Given the description of an element on the screen output the (x, y) to click on. 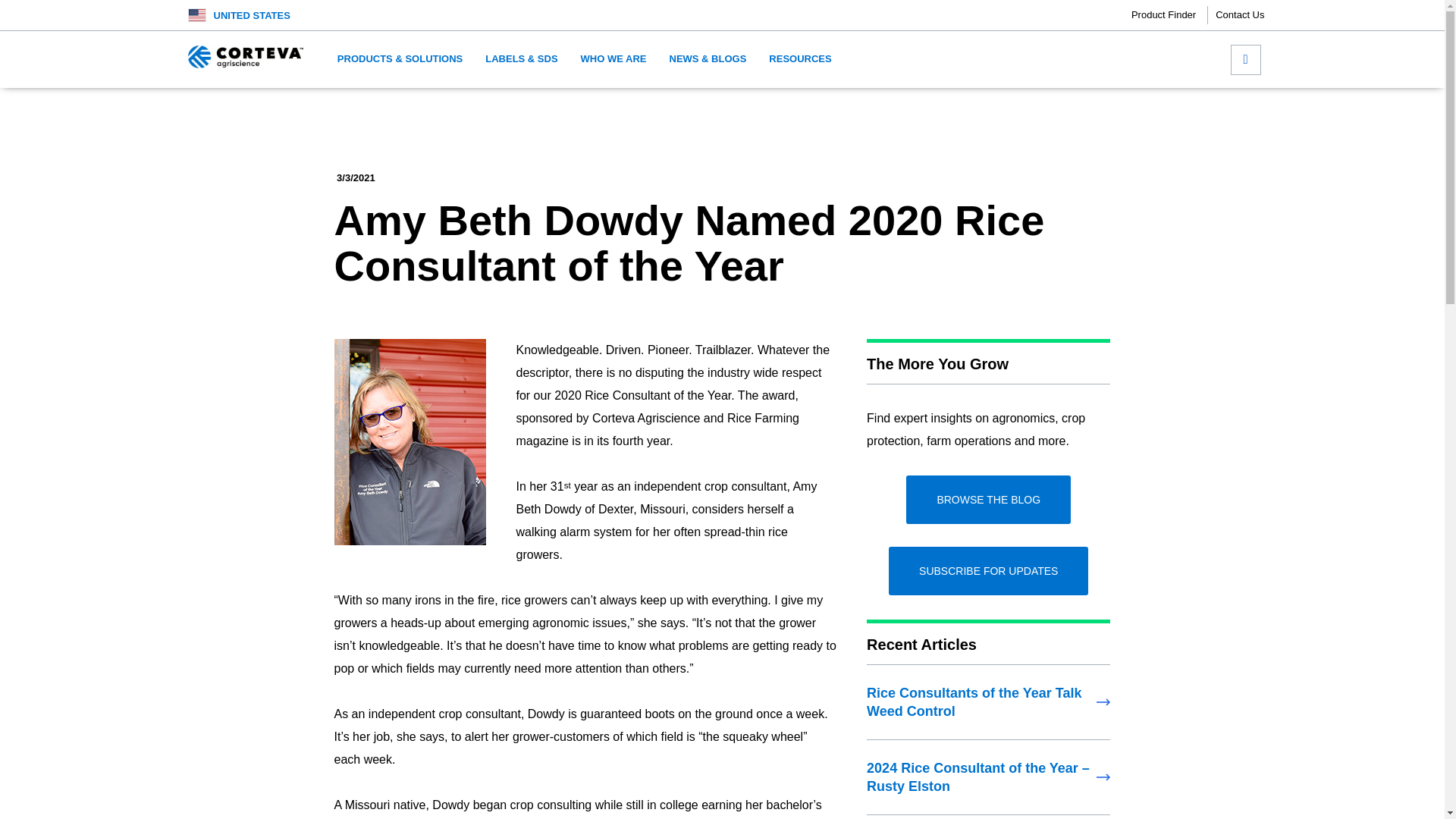
Product Finder (1169, 14)
Contact Us (1239, 14)
UNITED STATES (251, 15)
